Given the description of an element on the screen output the (x, y) to click on. 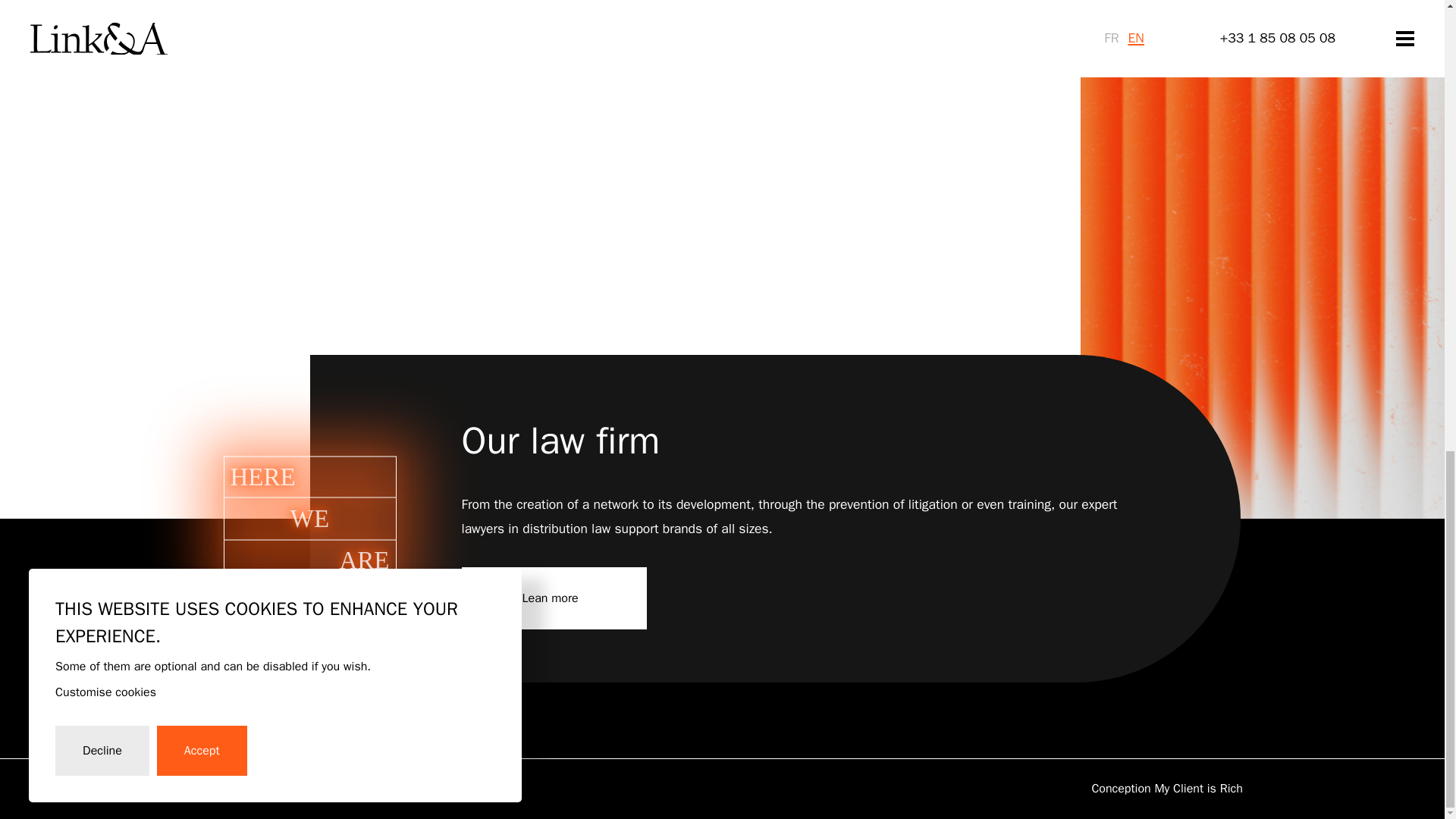
Lean more (553, 598)
My Client is Rich (1197, 788)
Legal notice (215, 789)
